Given the description of an element on the screen output the (x, y) to click on. 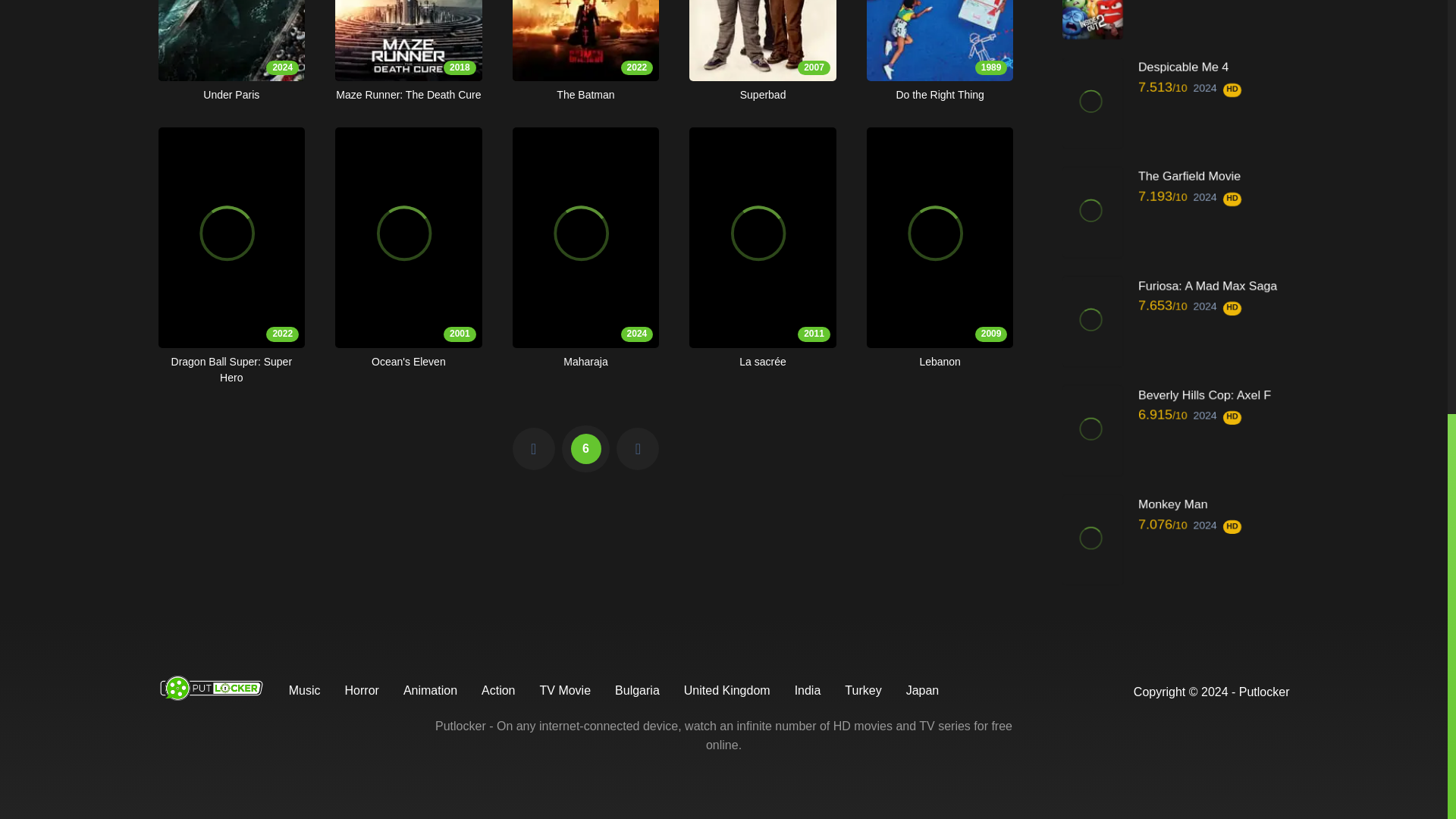
6 (939, 51)
